Given the description of an element on the screen output the (x, y) to click on. 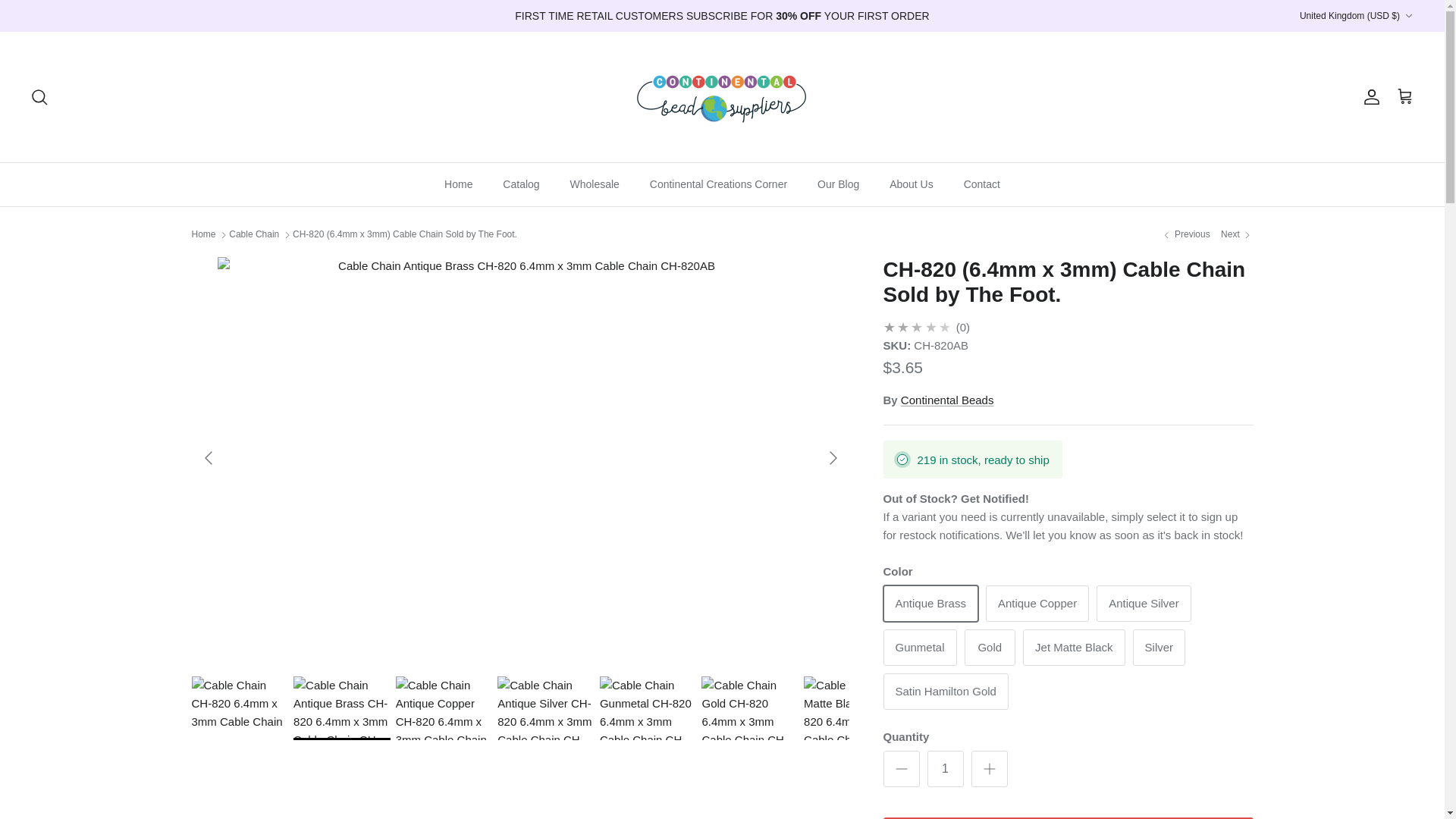
Continental Bead Suppliers (721, 96)
1 (944, 769)
Down (1408, 15)
RIGHT (832, 457)
Plus (988, 769)
LEFT (207, 457)
Minus (900, 769)
